Given the description of an element on the screen output the (x, y) to click on. 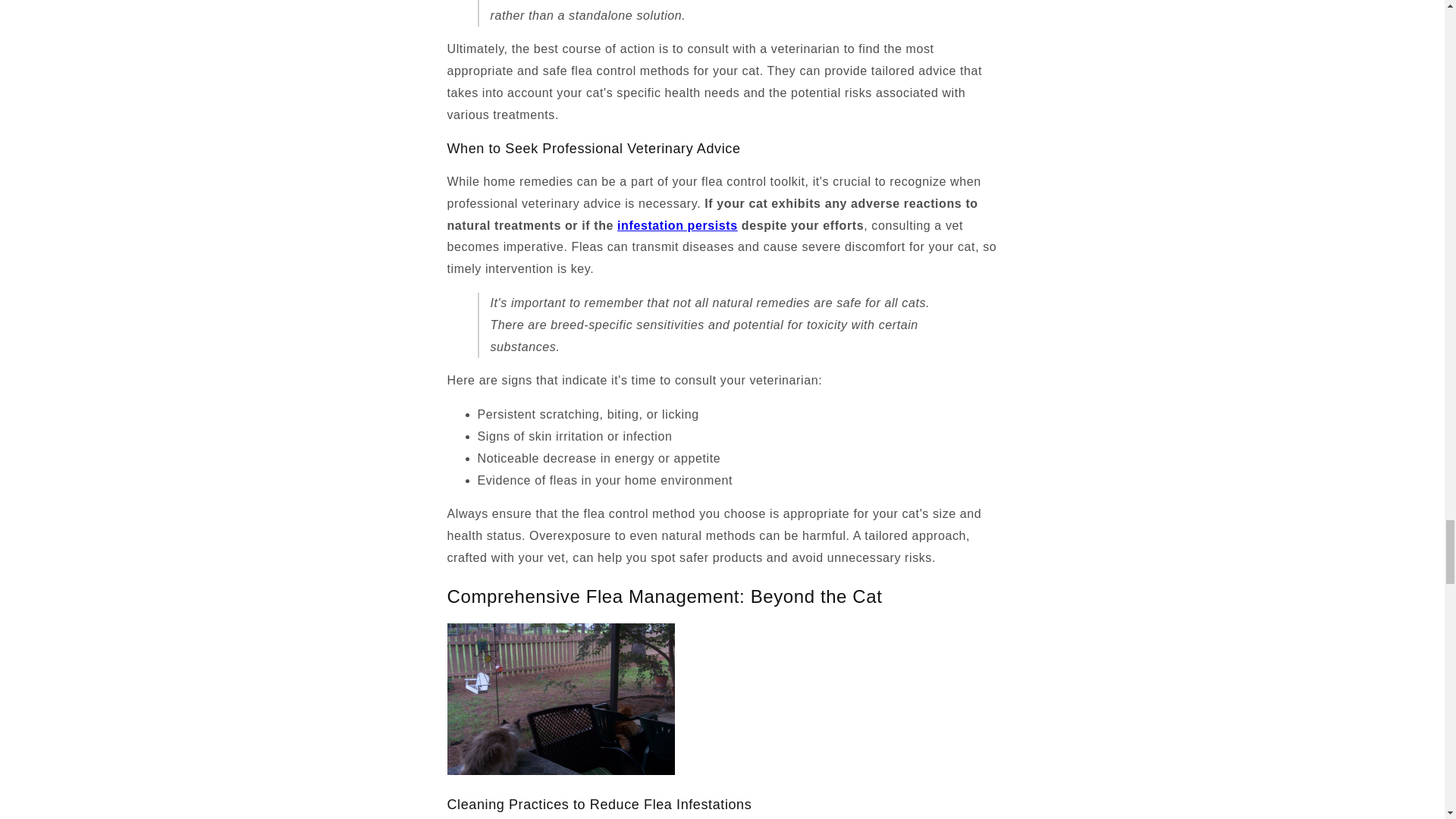
infestation persists (677, 225)
